Given the description of an element on the screen output the (x, y) to click on. 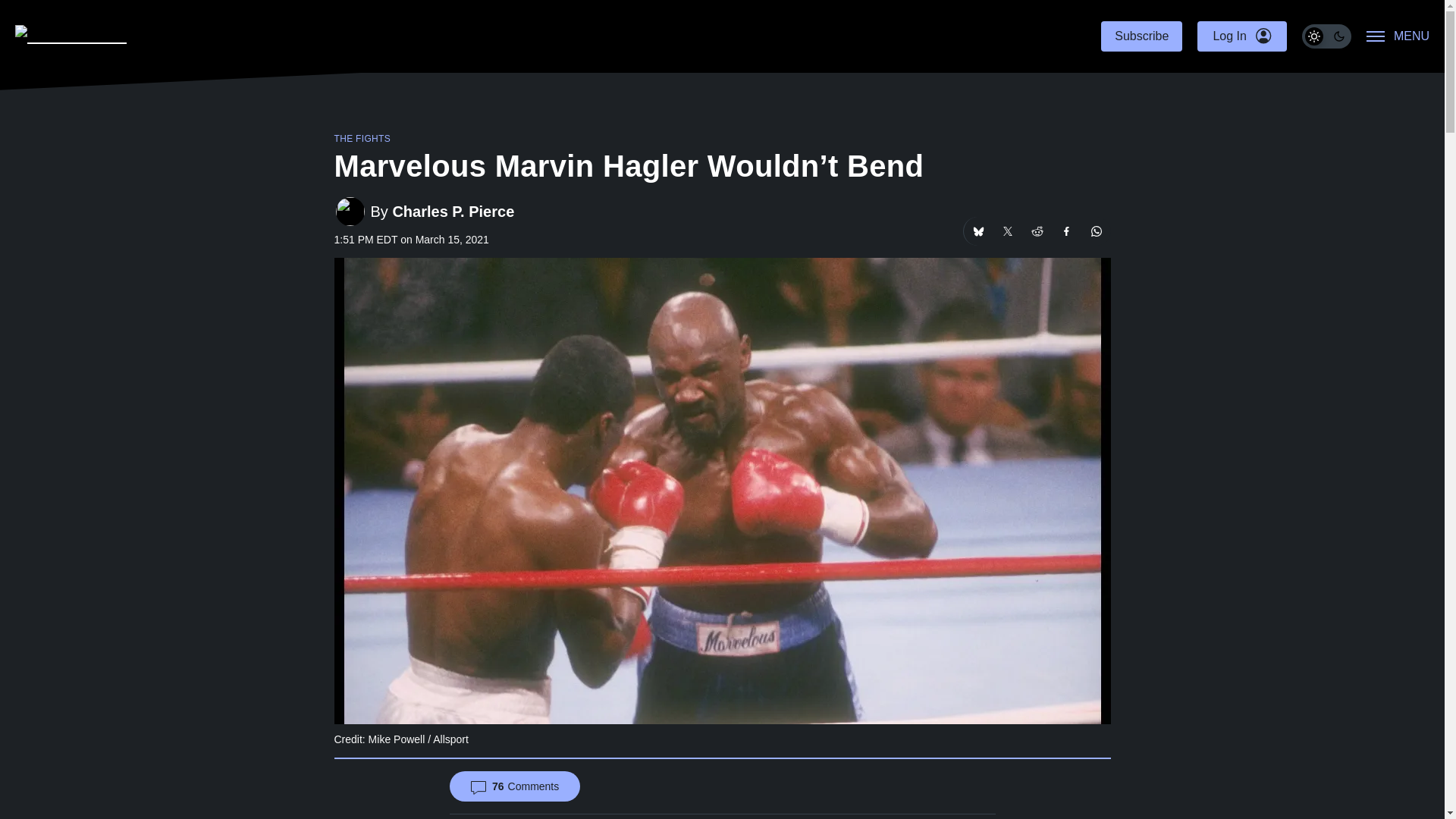
Share on Reddit (1036, 231)
Share on Bluesky (976, 231)
THE FIGHTS (361, 138)
Log In (1240, 36)
Share on Facebook (1066, 231)
MENU (1398, 36)
Charles P. Pierce (452, 211)
Subscribe (1141, 36)
